Given the description of an element on the screen output the (x, y) to click on. 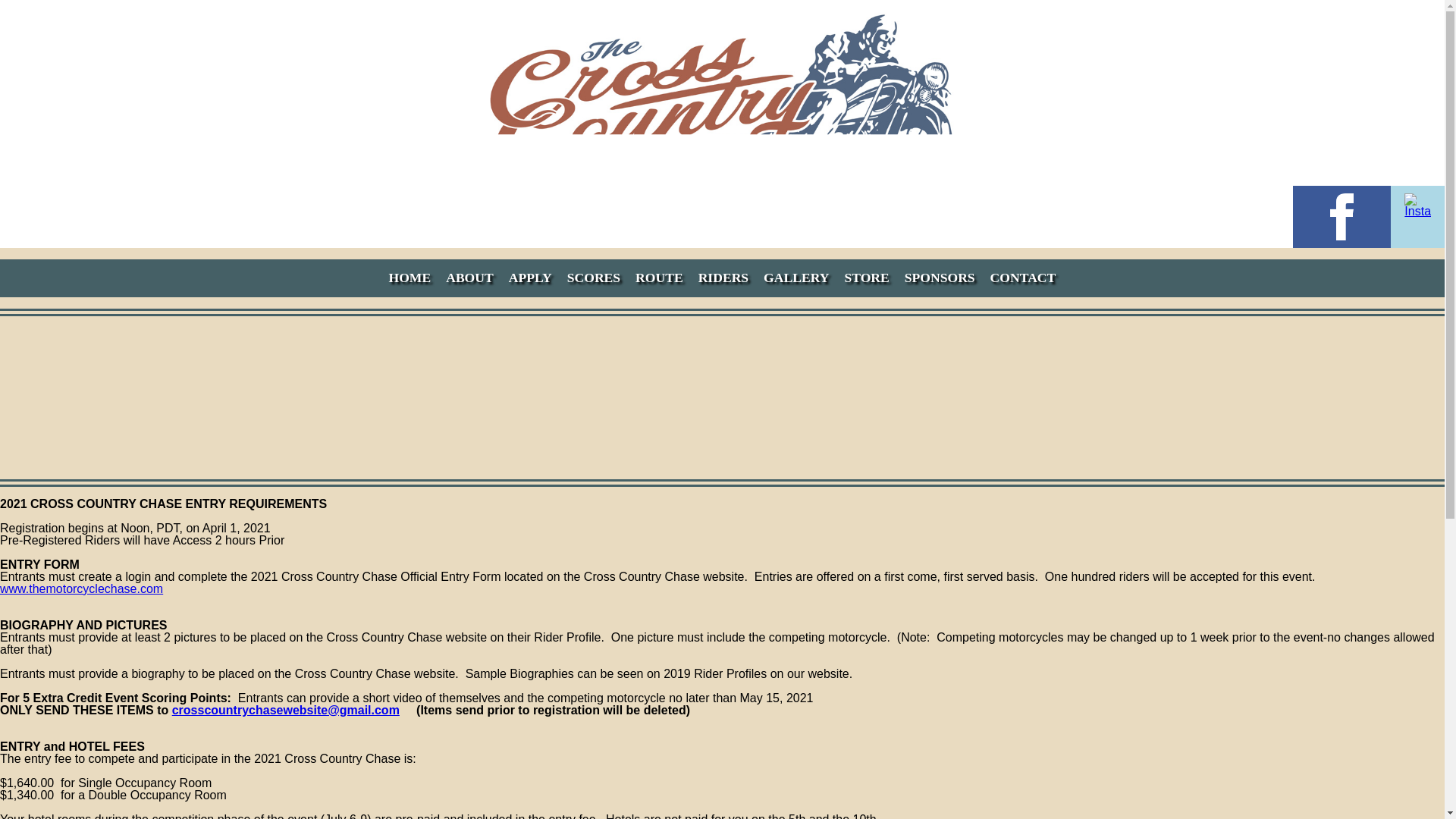
GALLERY (795, 277)
ABOUT (469, 277)
APPLY (529, 277)
RIDERS (723, 277)
www.themotorcyclechase.com (81, 588)
SPONSORS (939, 277)
ROUTE (658, 277)
STORE (866, 277)
HOME (409, 277)
SCORES (593, 277)
CONTACT (1023, 277)
